Given the description of an element on the screen output the (x, y) to click on. 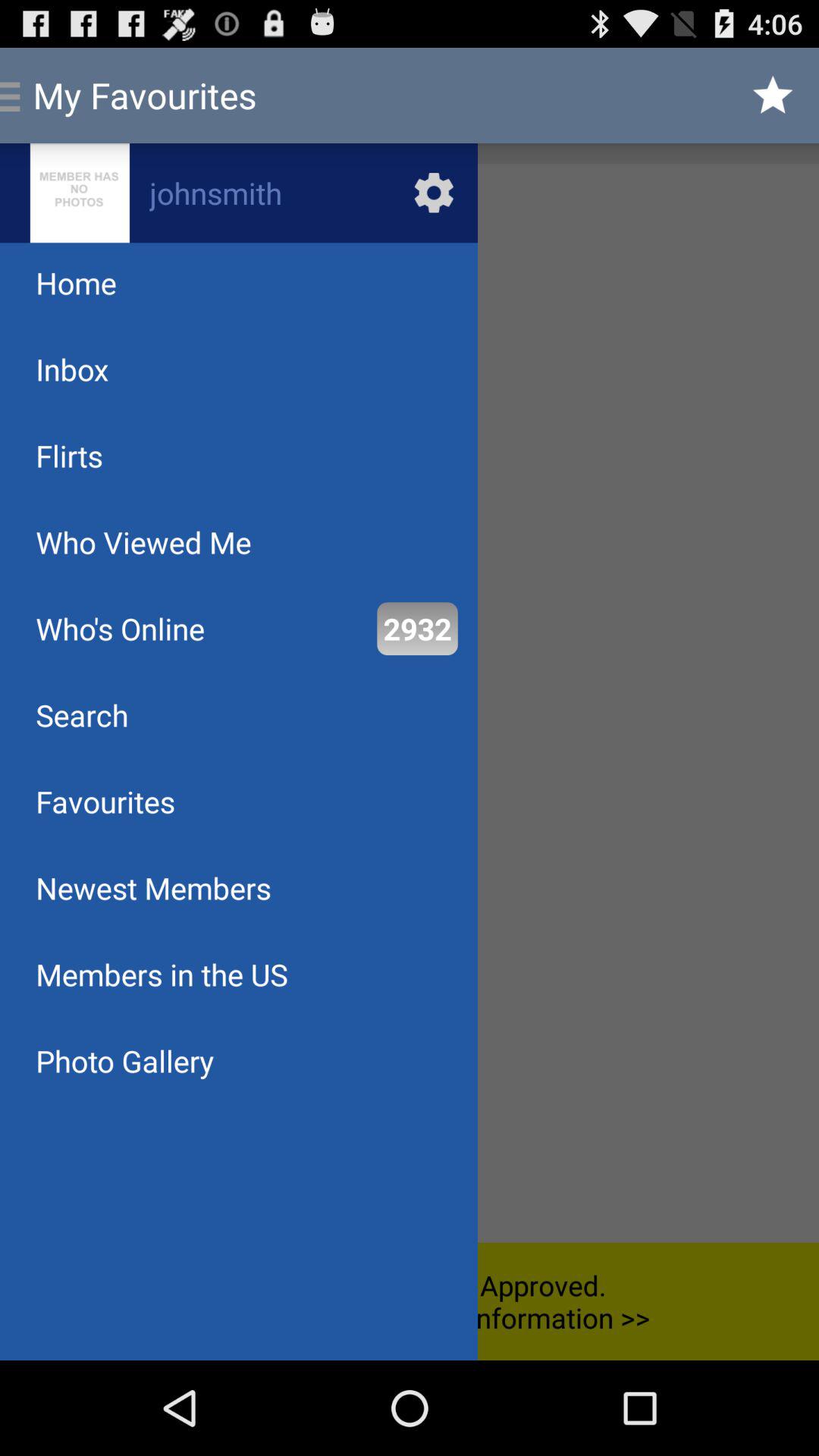
select from menu (409, 702)
